Given the description of an element on the screen output the (x, y) to click on. 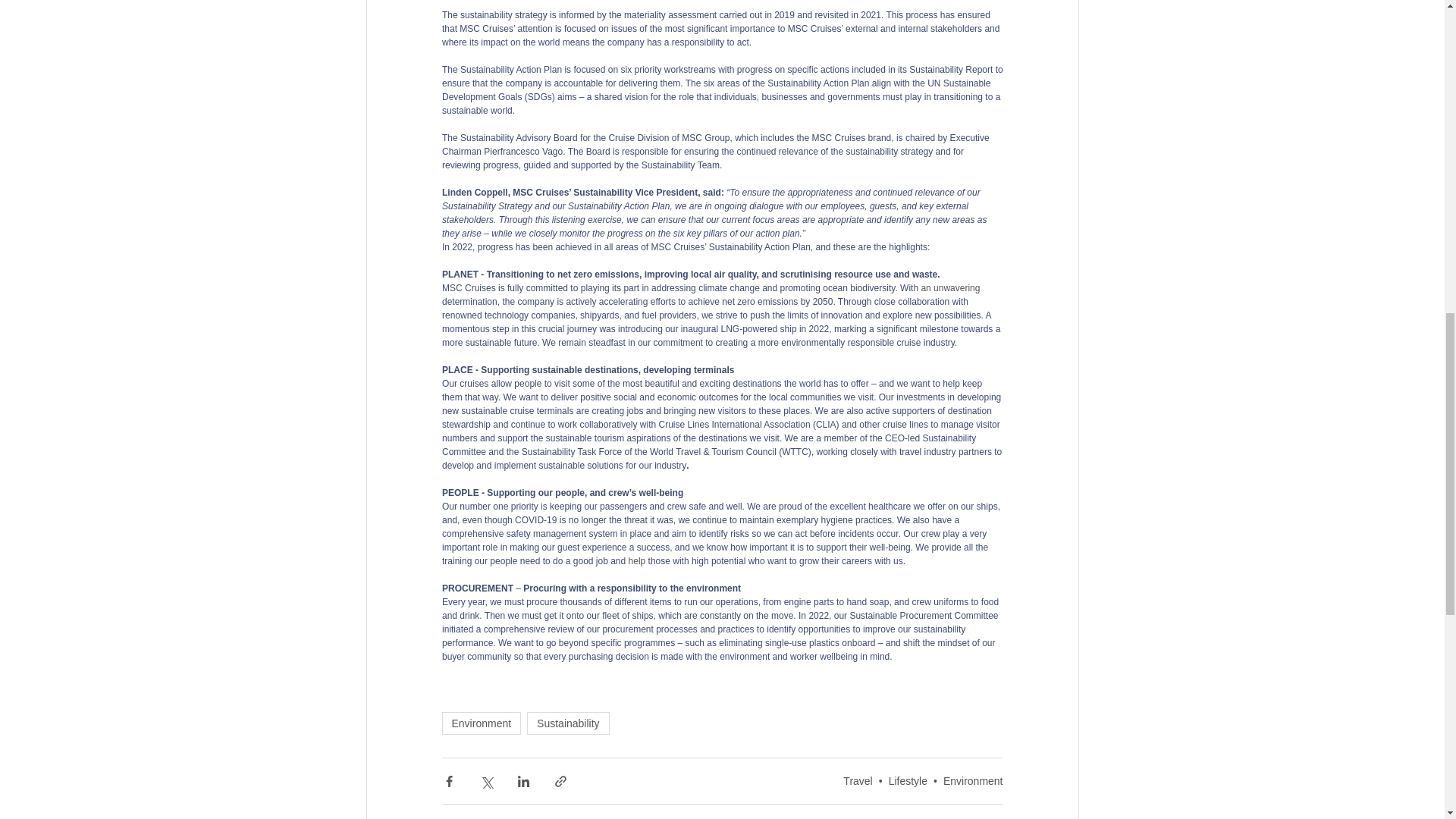
Sustainability (568, 722)
Environment (481, 722)
Environment (973, 780)
Lifestyle (907, 780)
Travel (857, 780)
